Given the description of an element on the screen output the (x, y) to click on. 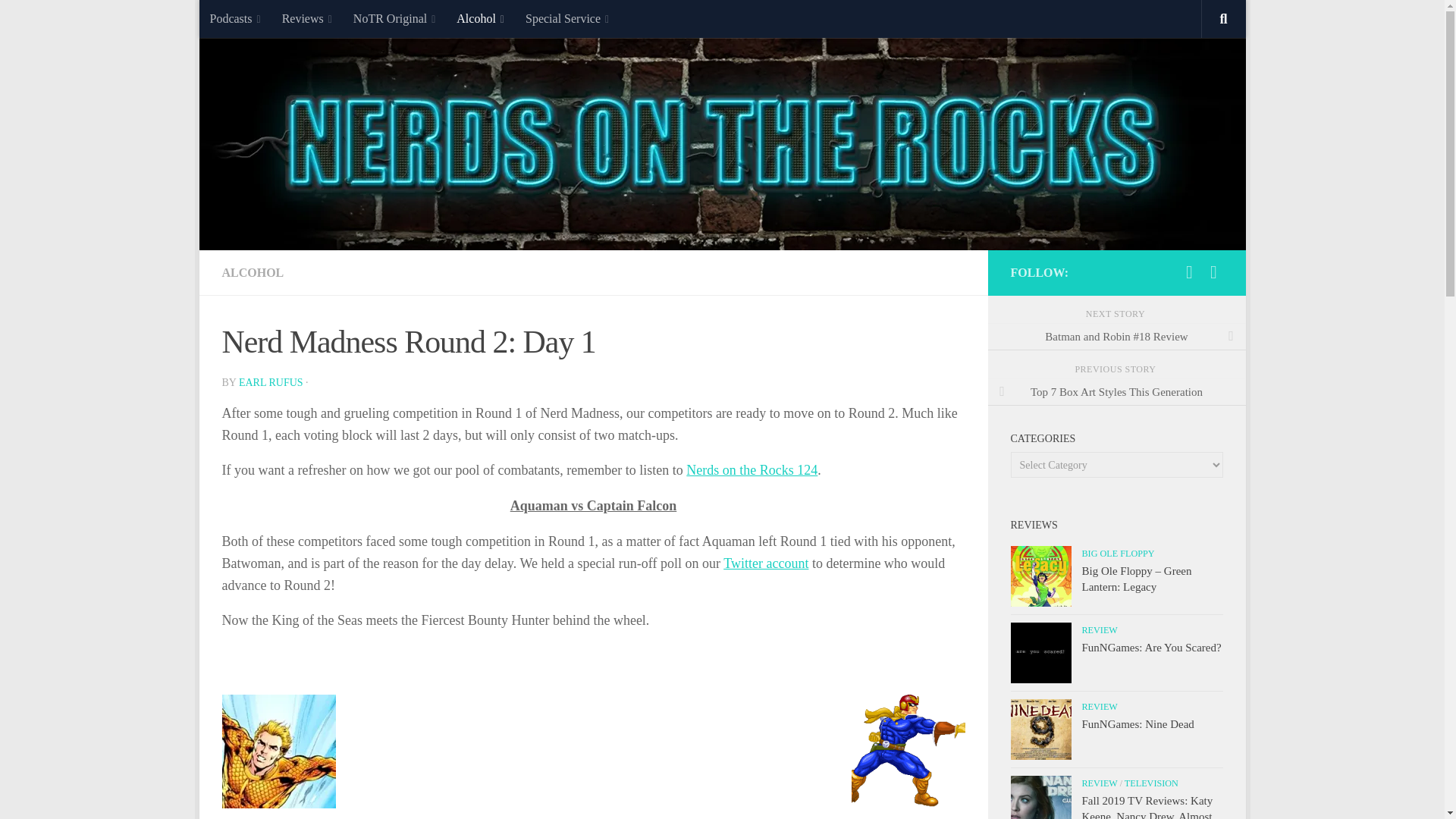
Follow us on Twitter-square (1188, 271)
captain-falcon (906, 751)
Follow us on Facebook-square (1213, 271)
Skip to content (258, 20)
Aquaman-comics (277, 751)
Posts by Earl Rufus (270, 382)
